Given the description of an element on the screen output the (x, y) to click on. 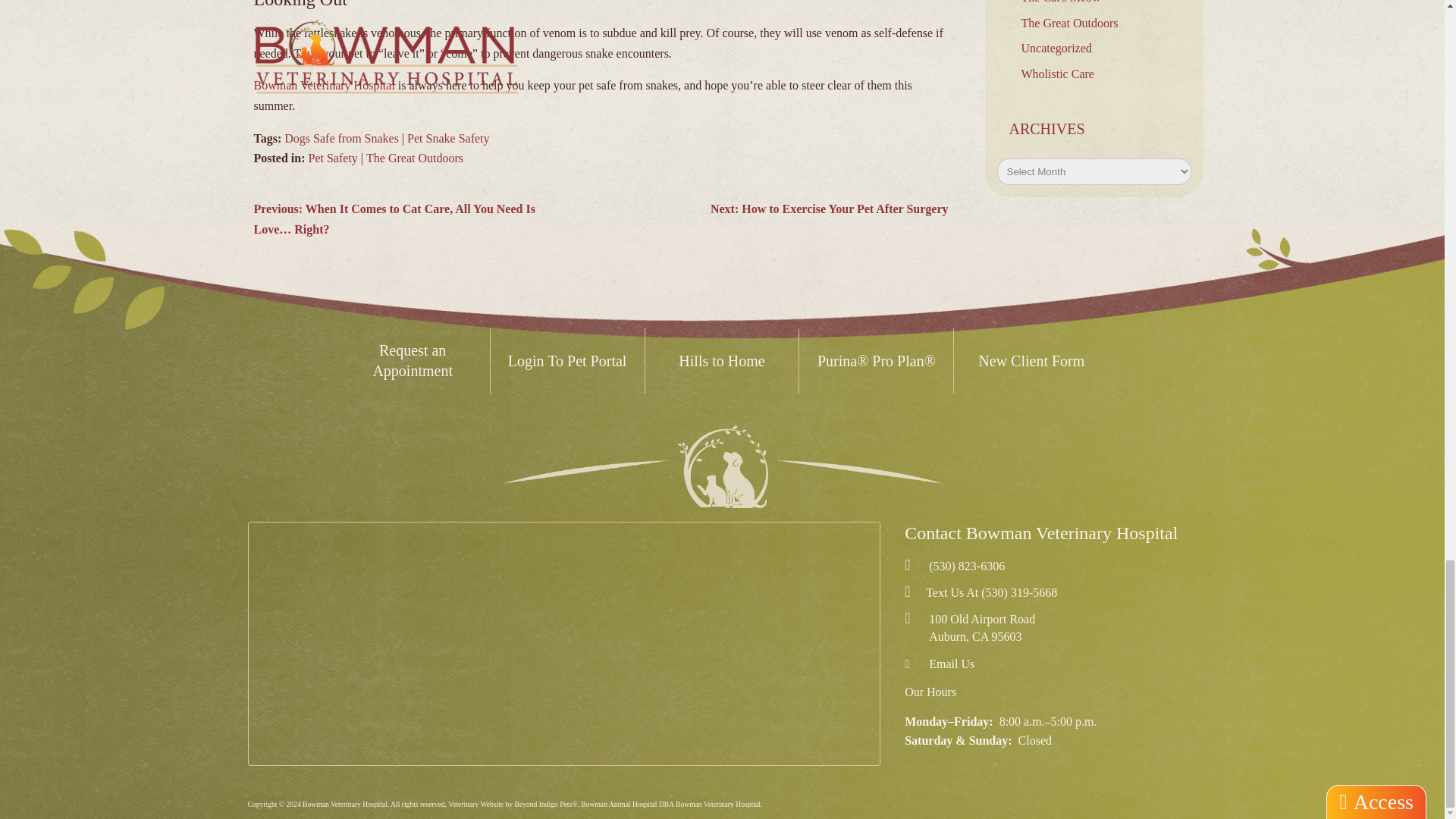
Beyond Indigo Pets (475, 804)
Bowman Veterinary Hospital (722, 466)
